Given the description of an element on the screen output the (x, y) to click on. 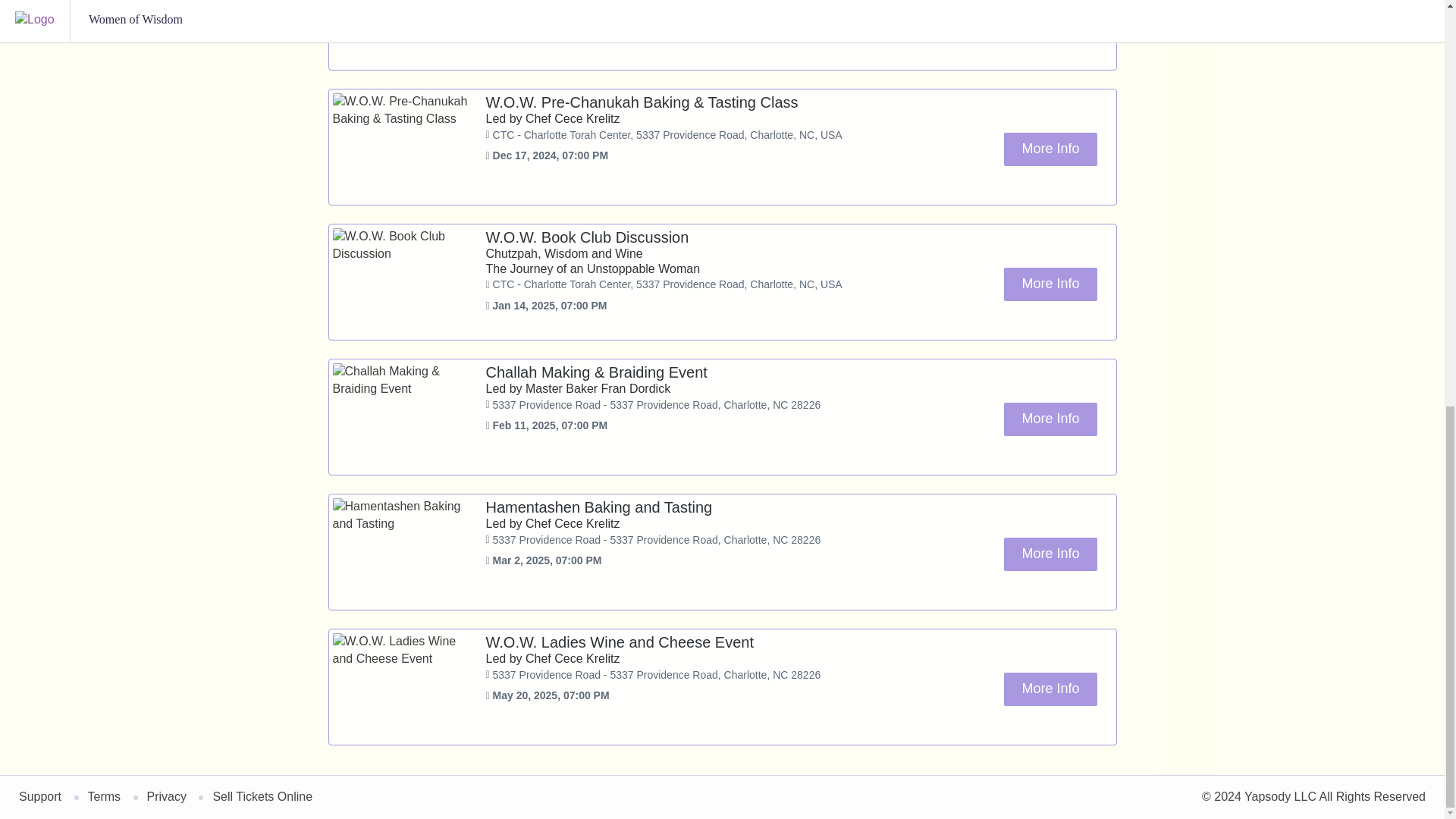
More Info (1050, 149)
More Info (1050, 418)
More Info (1050, 15)
More Info (1050, 688)
Privacy (166, 796)
Sell Tickets Online (262, 796)
